Given the description of an element on the screen output the (x, y) to click on. 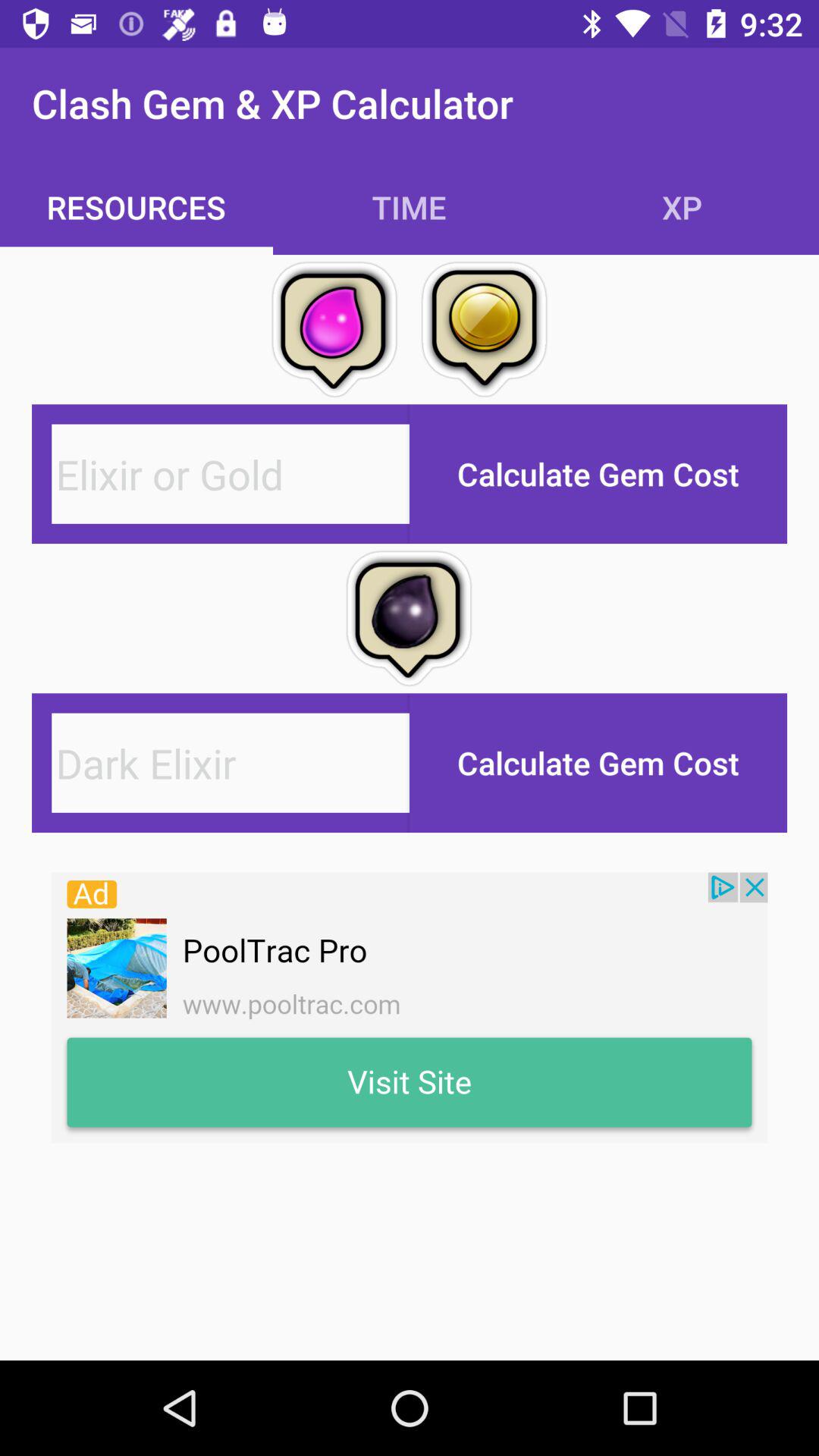
adventisment page (409, 1007)
